Given the description of an element on the screen output the (x, y) to click on. 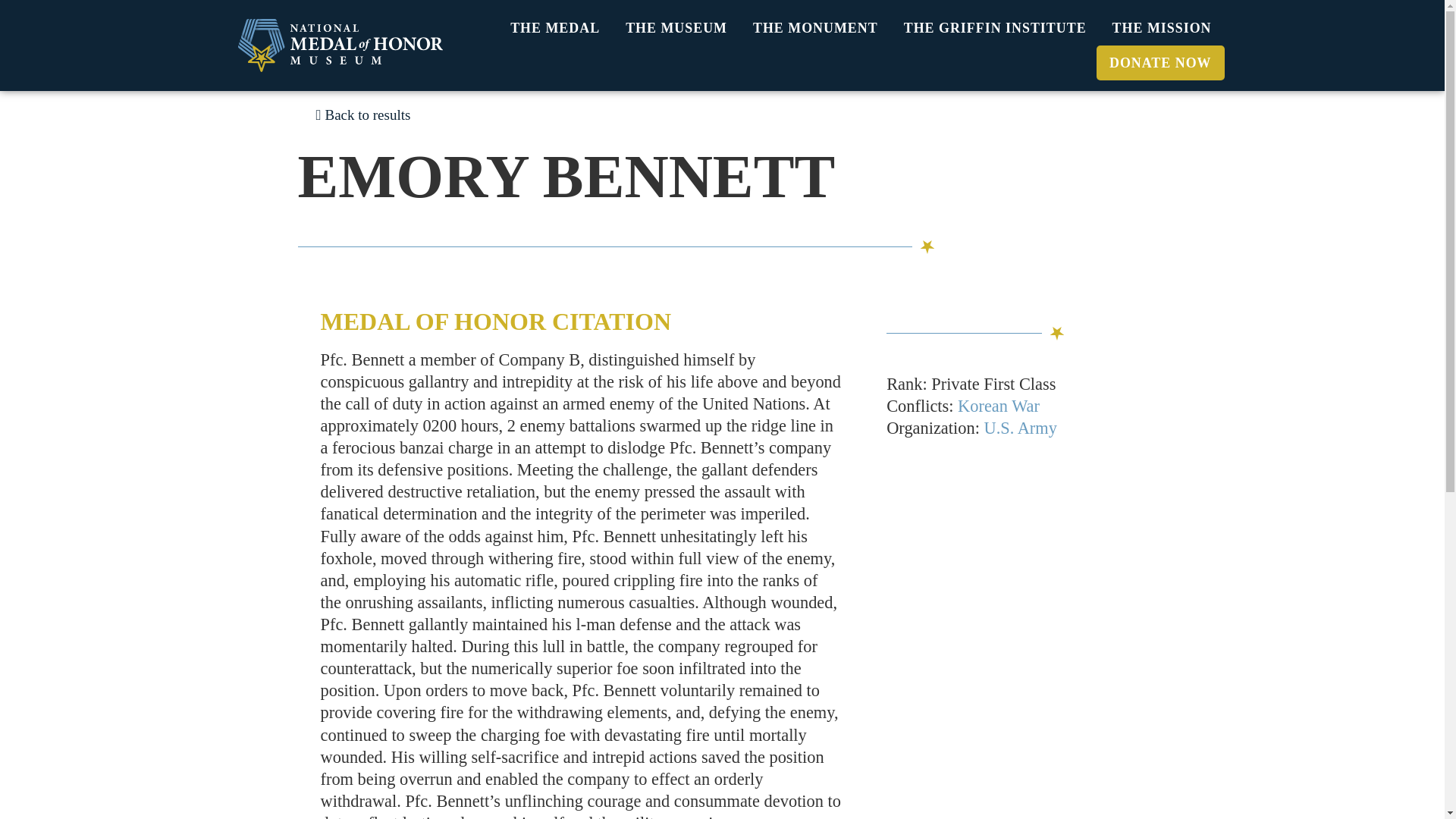
THE MISSION (1161, 27)
THE MONUMENT (815, 27)
DONATE NOW (1160, 62)
THE GRIFFIN INSTITUTE (995, 27)
THE MUSEUM (675, 27)
THE MEDAL (554, 27)
